Given the description of an element on the screen output the (x, y) to click on. 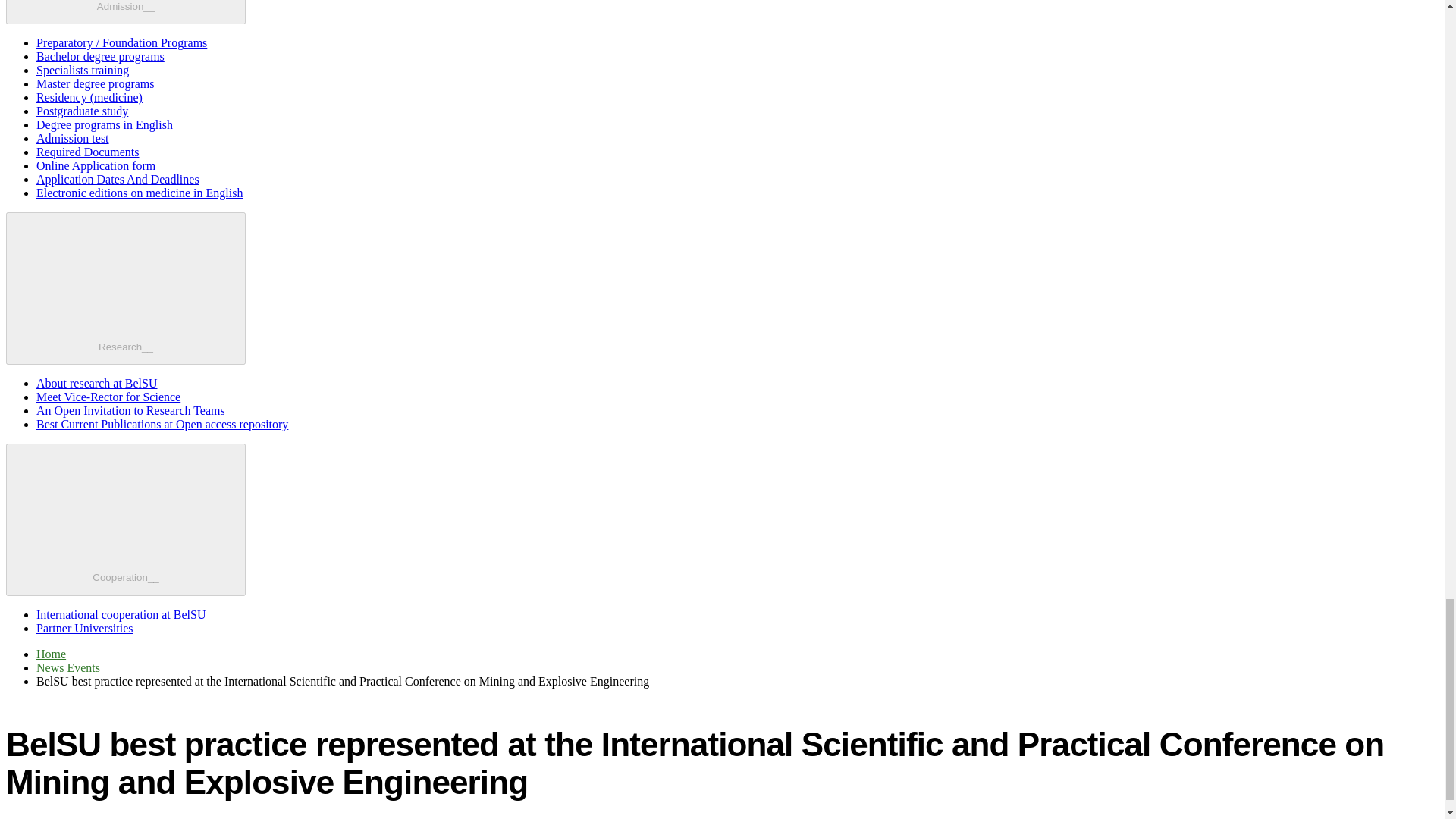
News Events (68, 667)
Bachelor degree programs (100, 56)
Specialists training (82, 69)
Home (50, 653)
